Given the description of an element on the screen output the (x, y) to click on. 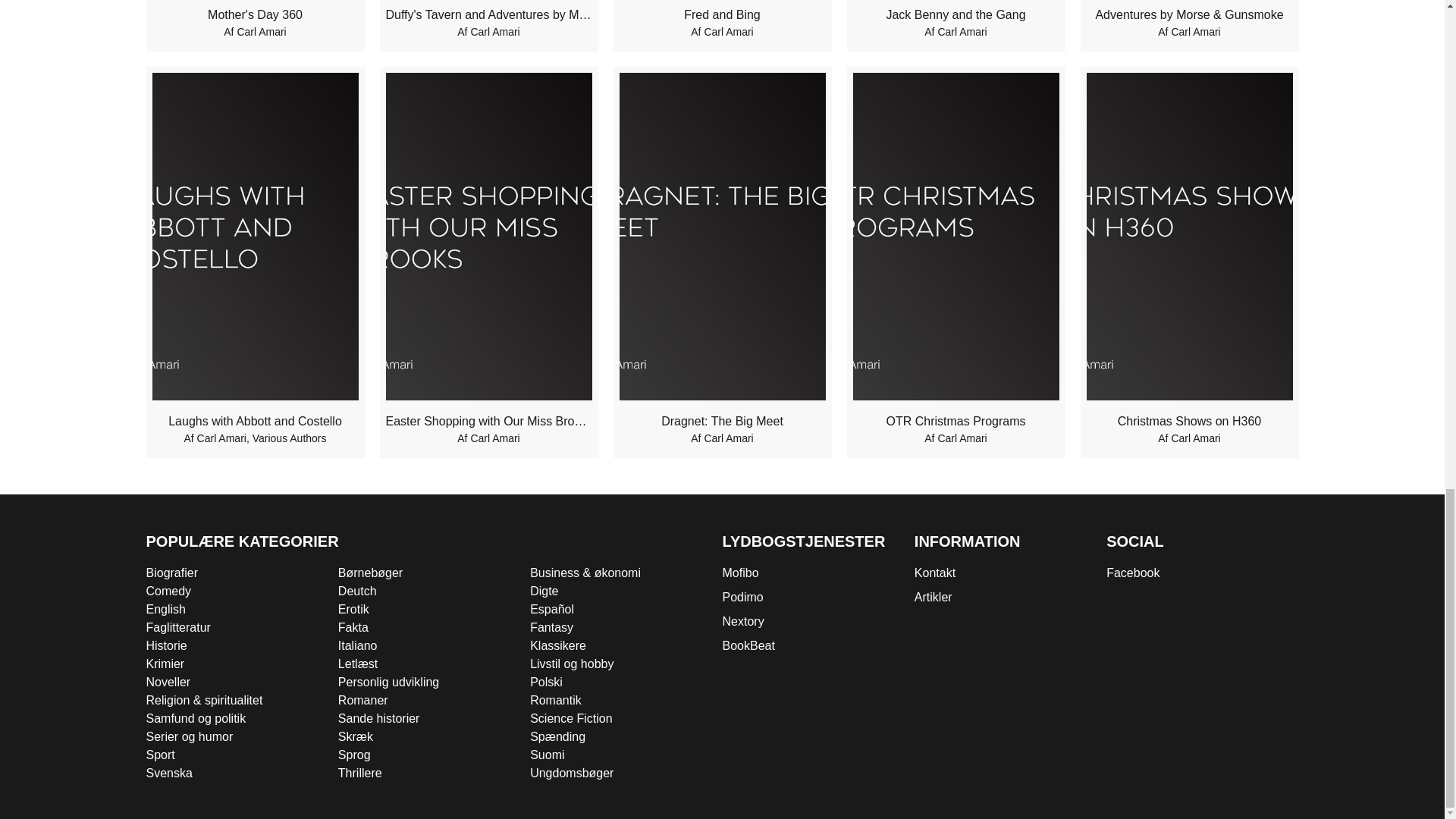
Mother's Day 360 (255, 14)
Duffy's Tavern and Adventures by Morse (488, 14)
Easter Shopping with Our Miss Brooks (488, 421)
Nextory (818, 621)
Fred and Bing (722, 14)
Jack Benny and the Gang (955, 14)
OTR Christmas Programs (955, 421)
Dragnet: The Big Meet (722, 421)
Facebook (1202, 573)
Christmas Shows on H360 (1189, 421)
